Given the description of an element on the screen output the (x, y) to click on. 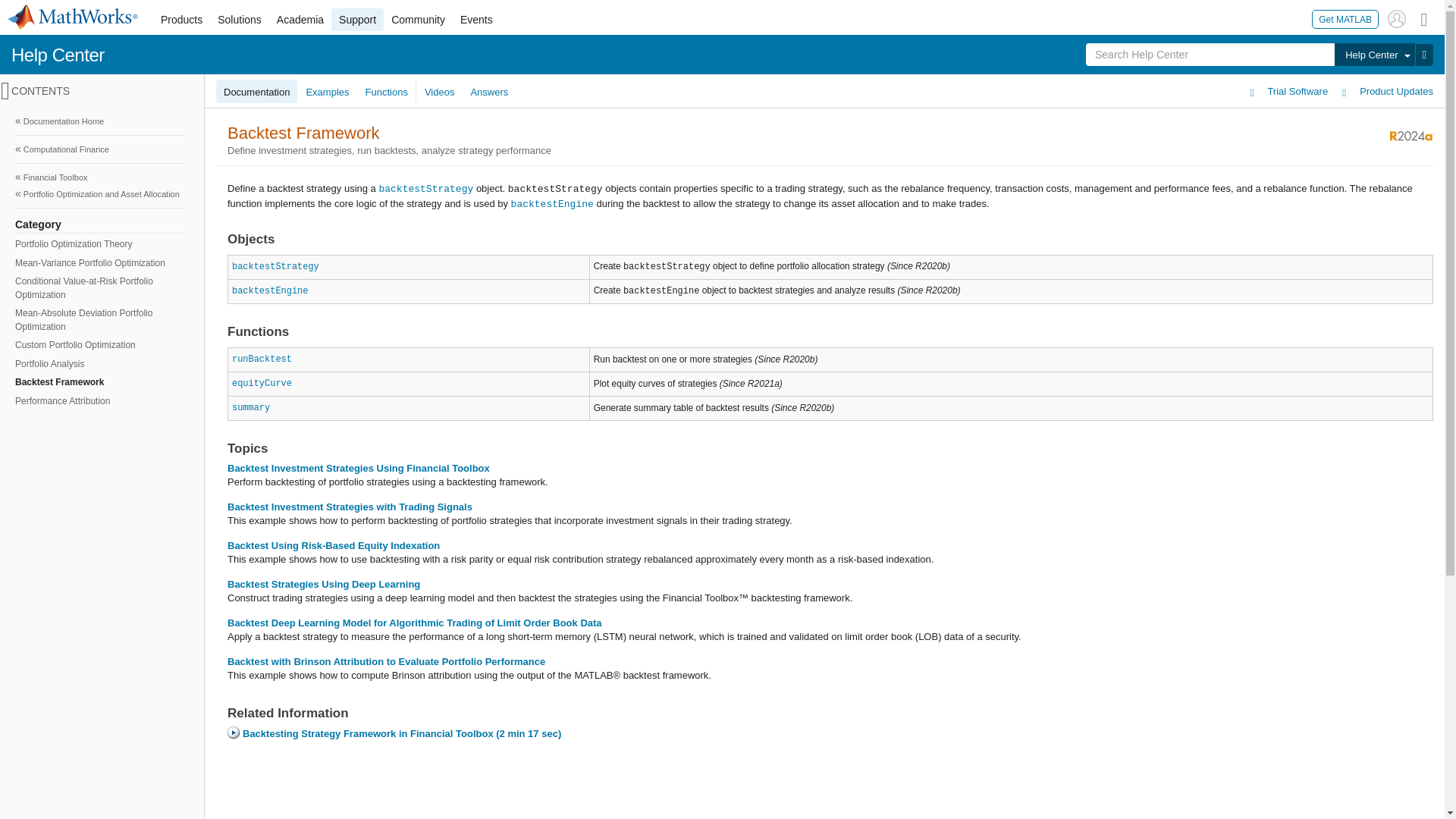
Get MATLAB (1344, 18)
Support (357, 19)
Community (418, 19)
Academia (300, 19)
Matrix Menu (1423, 18)
Products (180, 19)
Events (476, 19)
Sign In to Your MathWorks Account (1396, 18)
Solutions (239, 19)
